Given the description of an element on the screen output the (x, y) to click on. 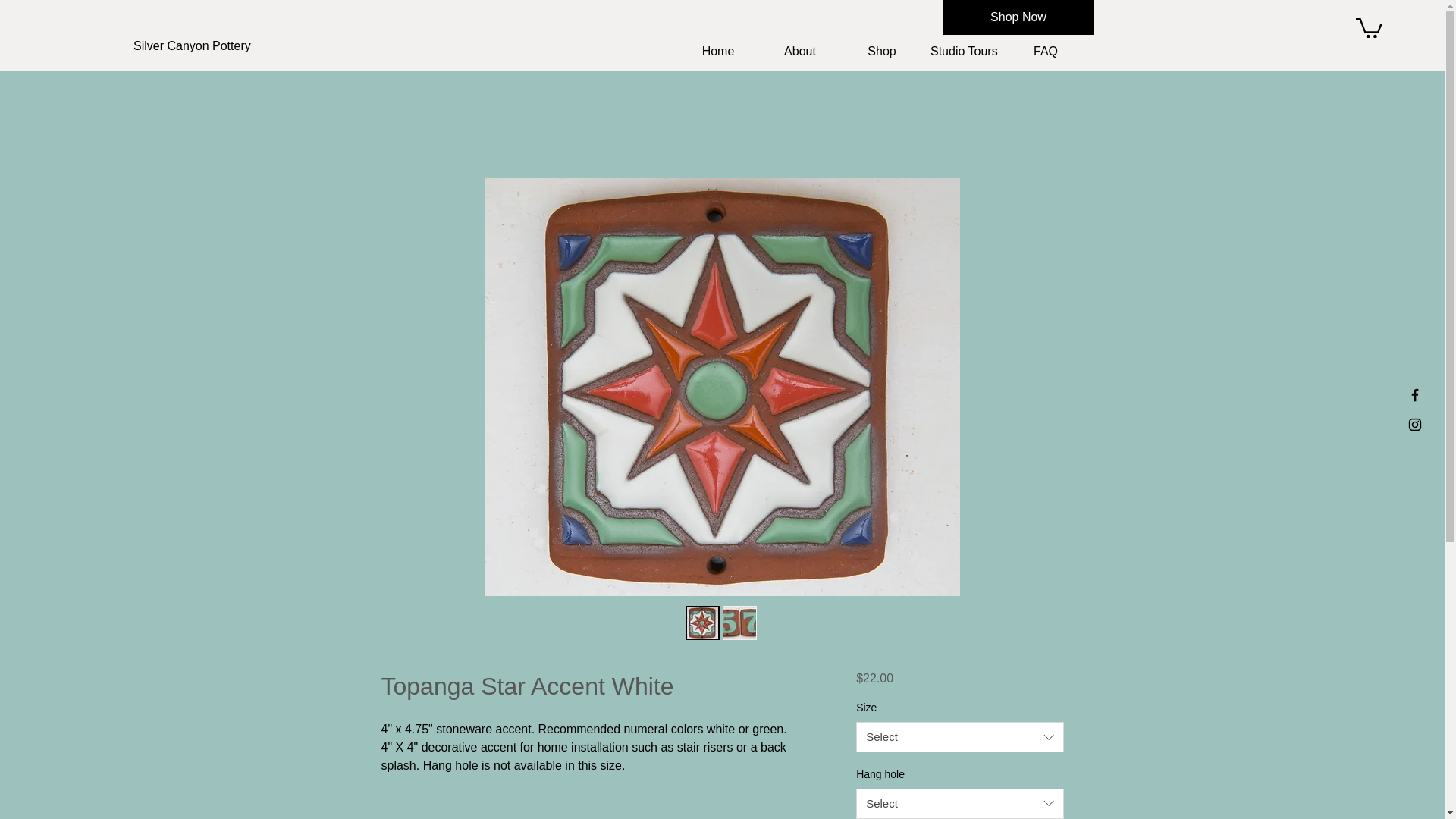
Home (717, 51)
Select (959, 736)
Silver Canyon Pottery (236, 46)
Select (959, 803)
FAQ (1045, 51)
Studio Tours (963, 51)
Shop Now (1018, 17)
About (799, 51)
